Given the description of an element on the screen output the (x, y) to click on. 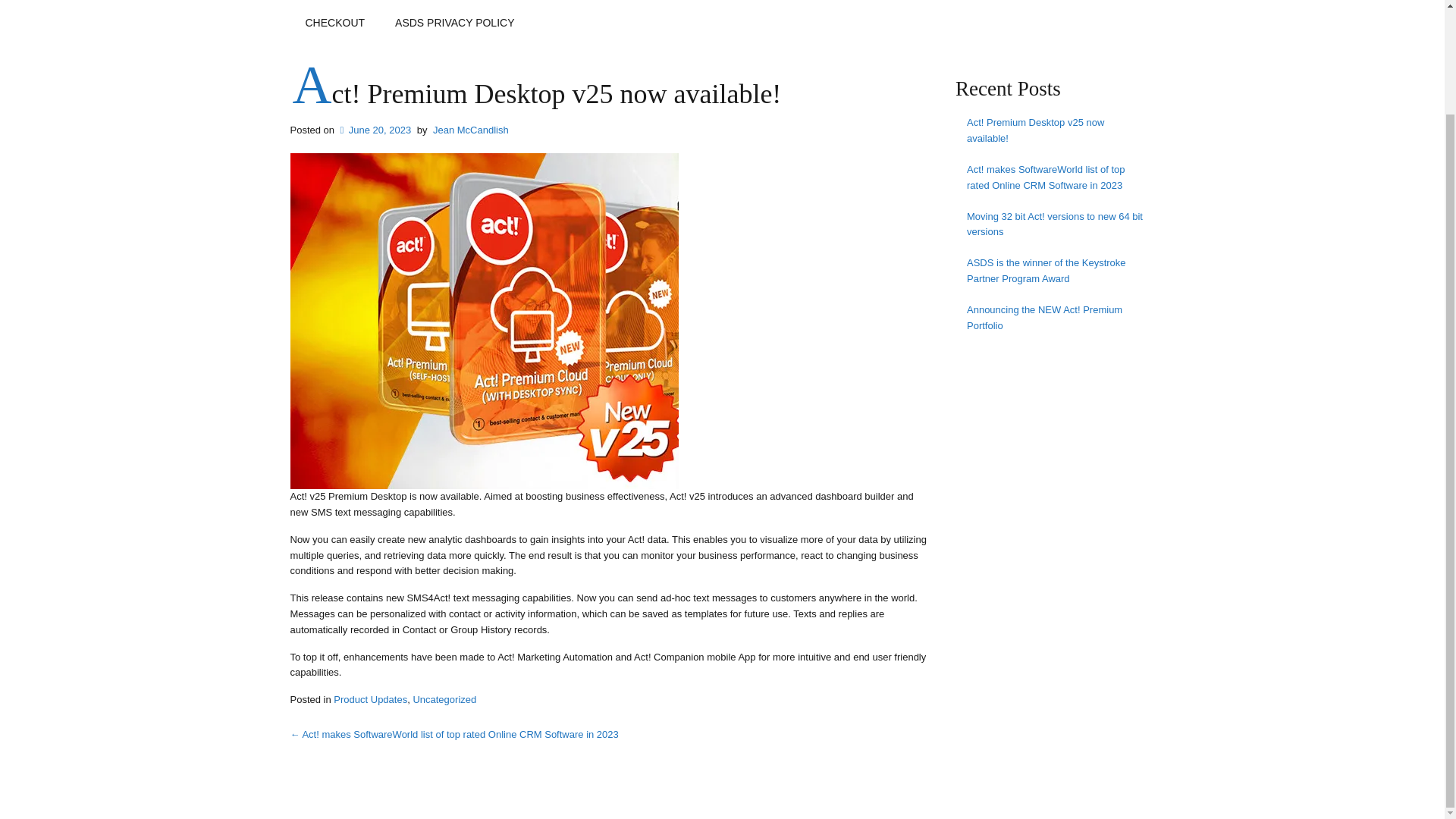
SERVICES (478, 3)
ACT! ADD-ONS (643, 3)
CONTACT US (880, 3)
June 20, 2023 (374, 129)
FREE RESOURCES (766, 3)
Jean McCandlish (470, 129)
CRM Portfolio (552, 3)
CART (1078, 3)
BLOG (958, 3)
Uncategorized (444, 699)
HOME (320, 3)
ASDS PRIVACY POLICY (454, 23)
Product Updates (370, 699)
Act! Premium Desktop v25 now available! (1054, 130)
